Given the description of an element on the screen output the (x, y) to click on. 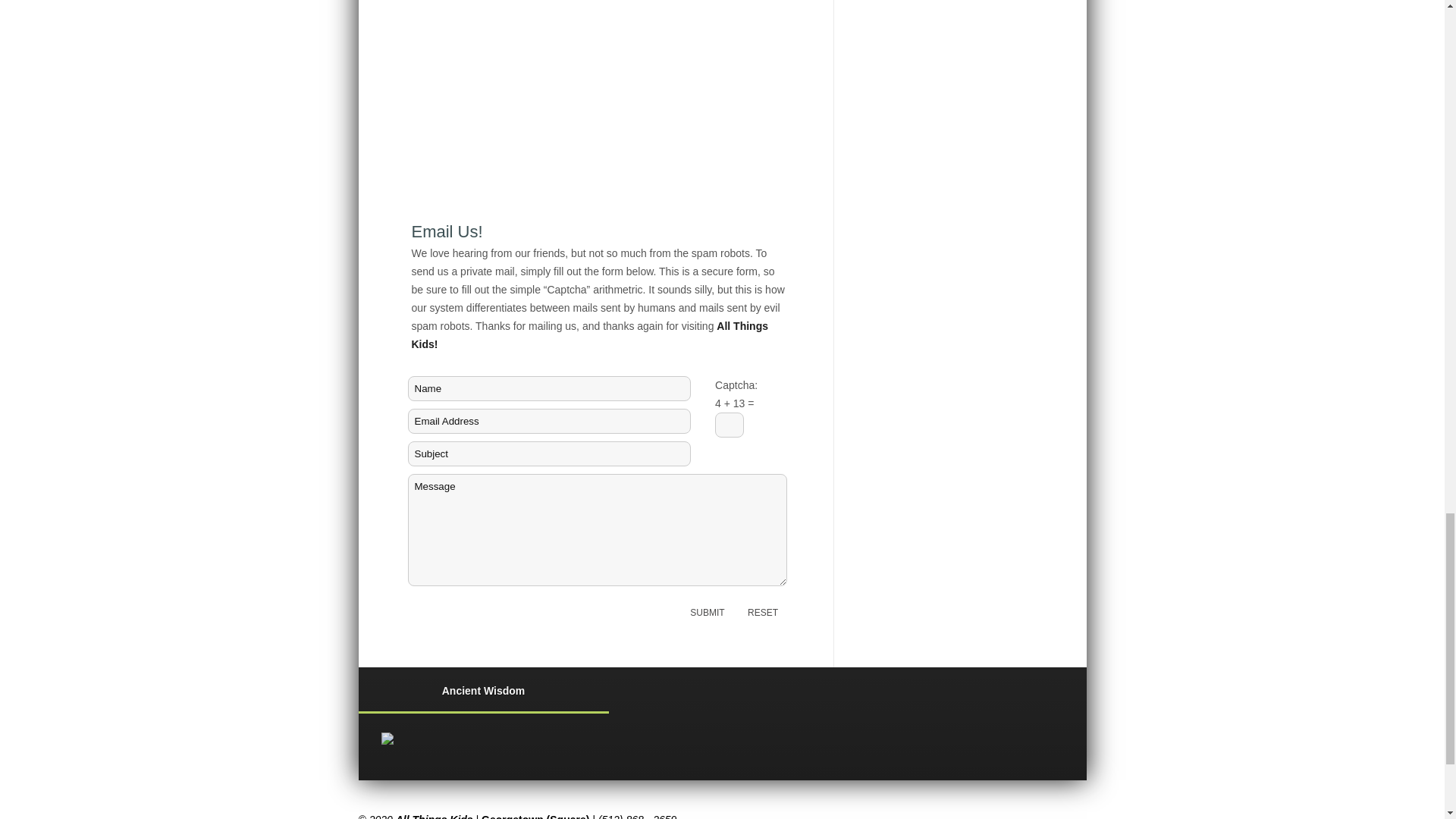
Name (549, 388)
Subject (549, 453)
Reset (762, 611)
Submit (707, 611)
Submit (707, 611)
Email Address (549, 421)
